Given the description of an element on the screen output the (x, y) to click on. 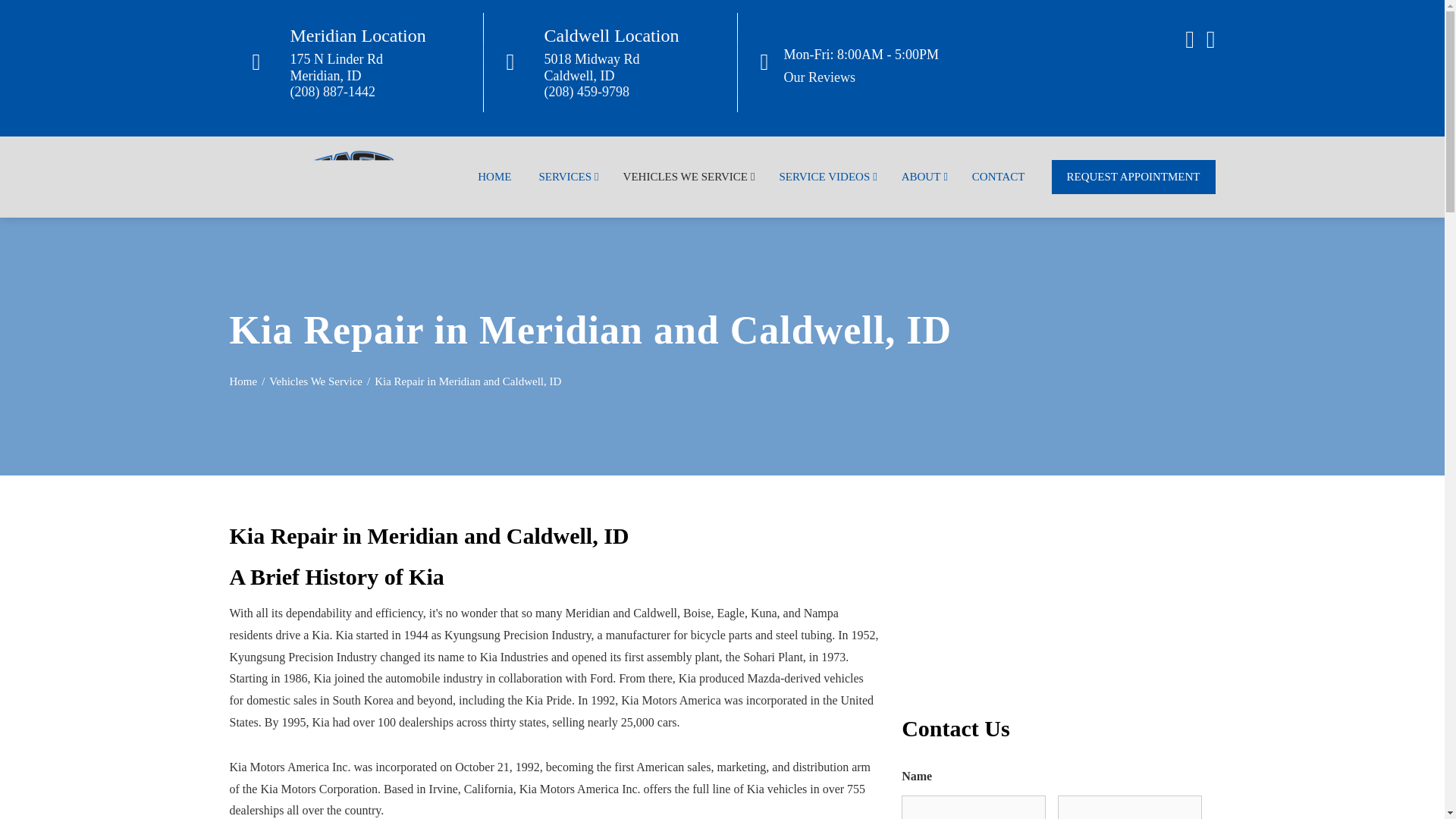
VEHICLES WE SERVICE (686, 176)
HOME (493, 176)
SERVICES (567, 176)
Our Reviews (818, 77)
